Given the description of an element on the screen output the (x, y) to click on. 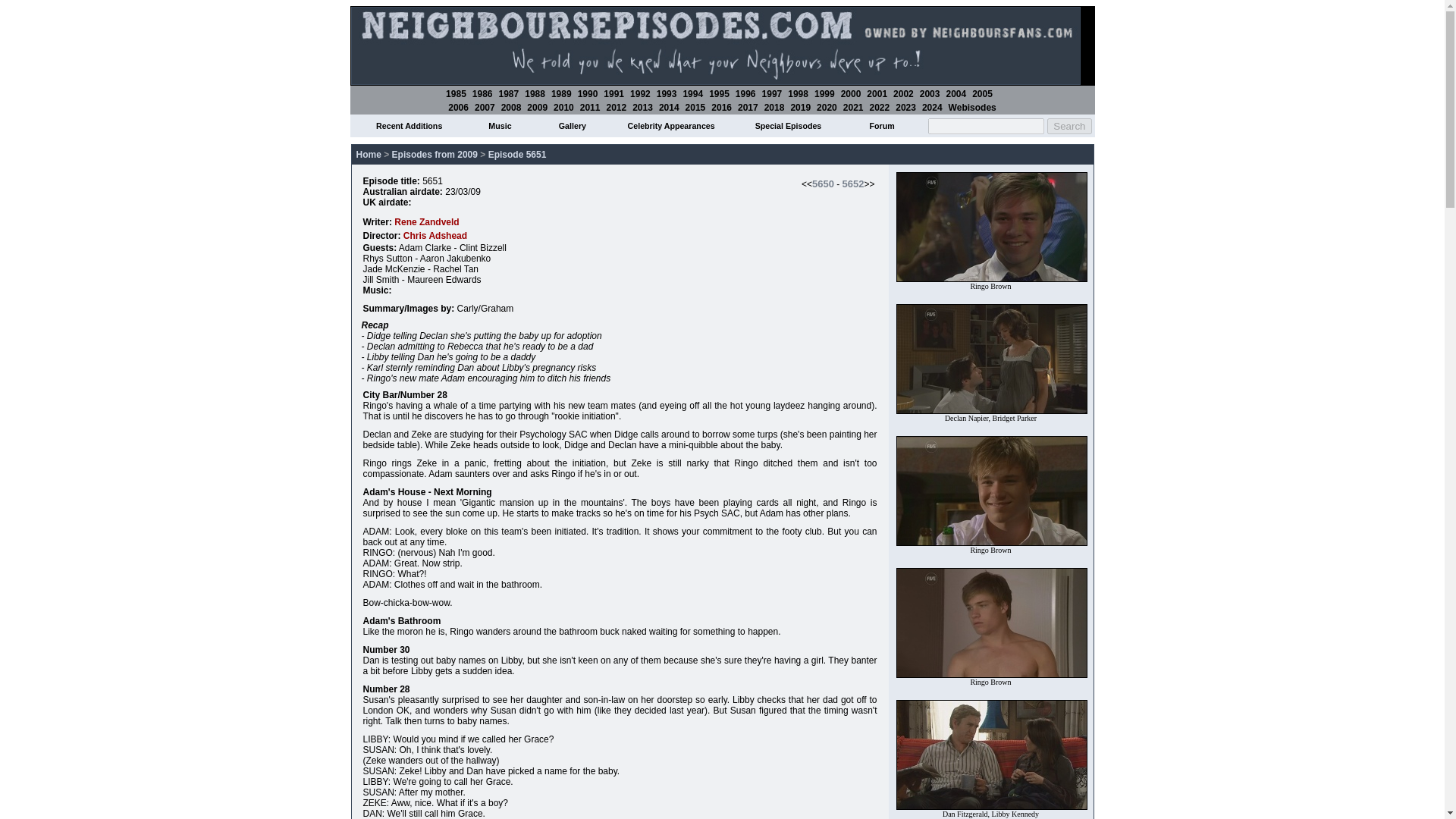
1993 (666, 93)
2001 (876, 93)
1996 (745, 93)
1999 (823, 93)
2005 (982, 93)
2006 (458, 107)
1987 (509, 93)
1986 (482, 93)
2011 (589, 107)
2007 (484, 107)
2018 (774, 107)
2020 (826, 107)
2017 (748, 107)
1995 (719, 93)
1988 (534, 93)
